Given the description of an element on the screen output the (x, y) to click on. 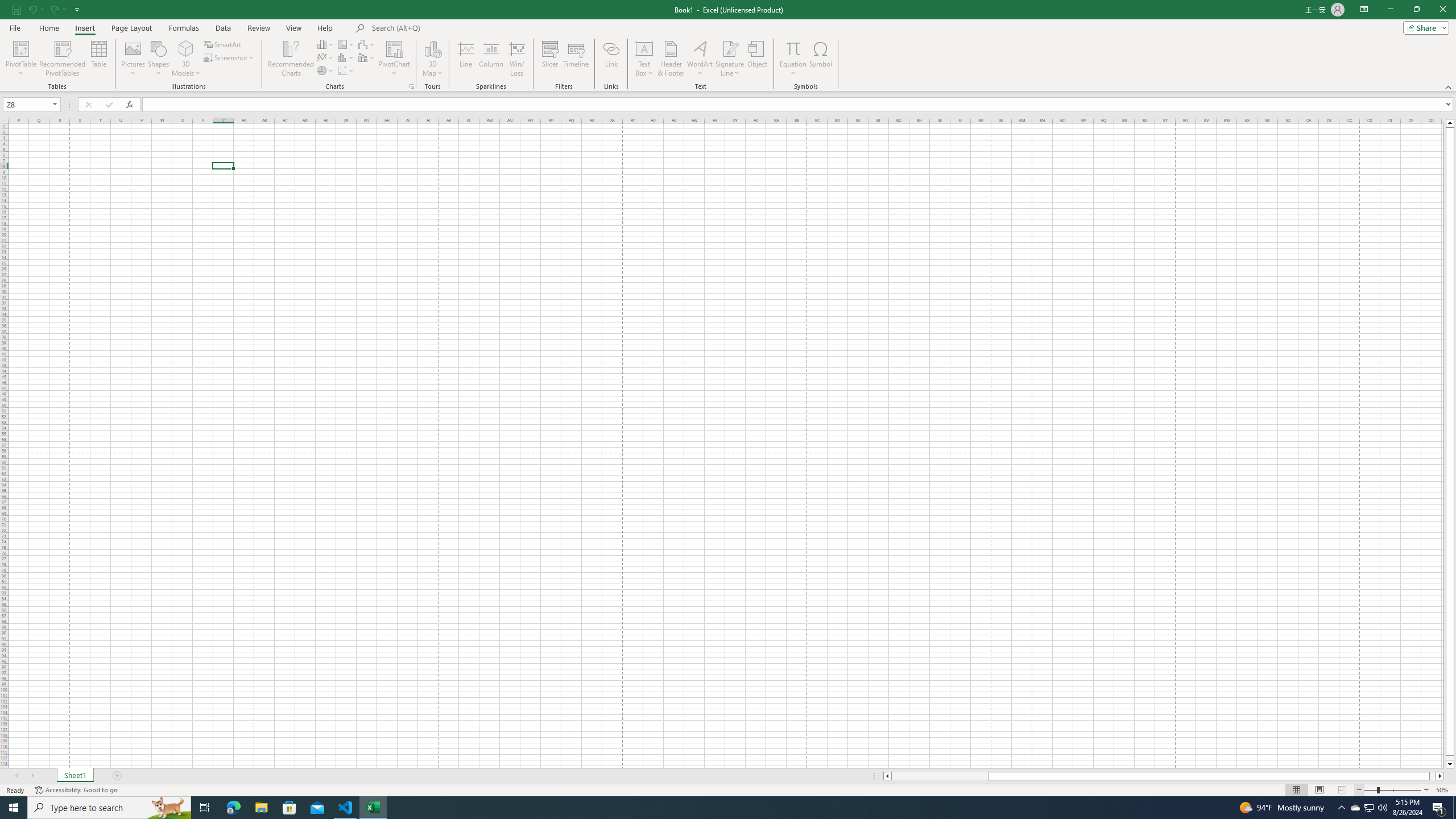
Signature Line (729, 48)
Header & Footer... (670, 58)
Insert Statistic Chart (346, 56)
Signature Line (729, 58)
Draw Horizontal Text Box (643, 48)
SmartArt... (223, 44)
